Given the description of an element on the screen output the (x, y) to click on. 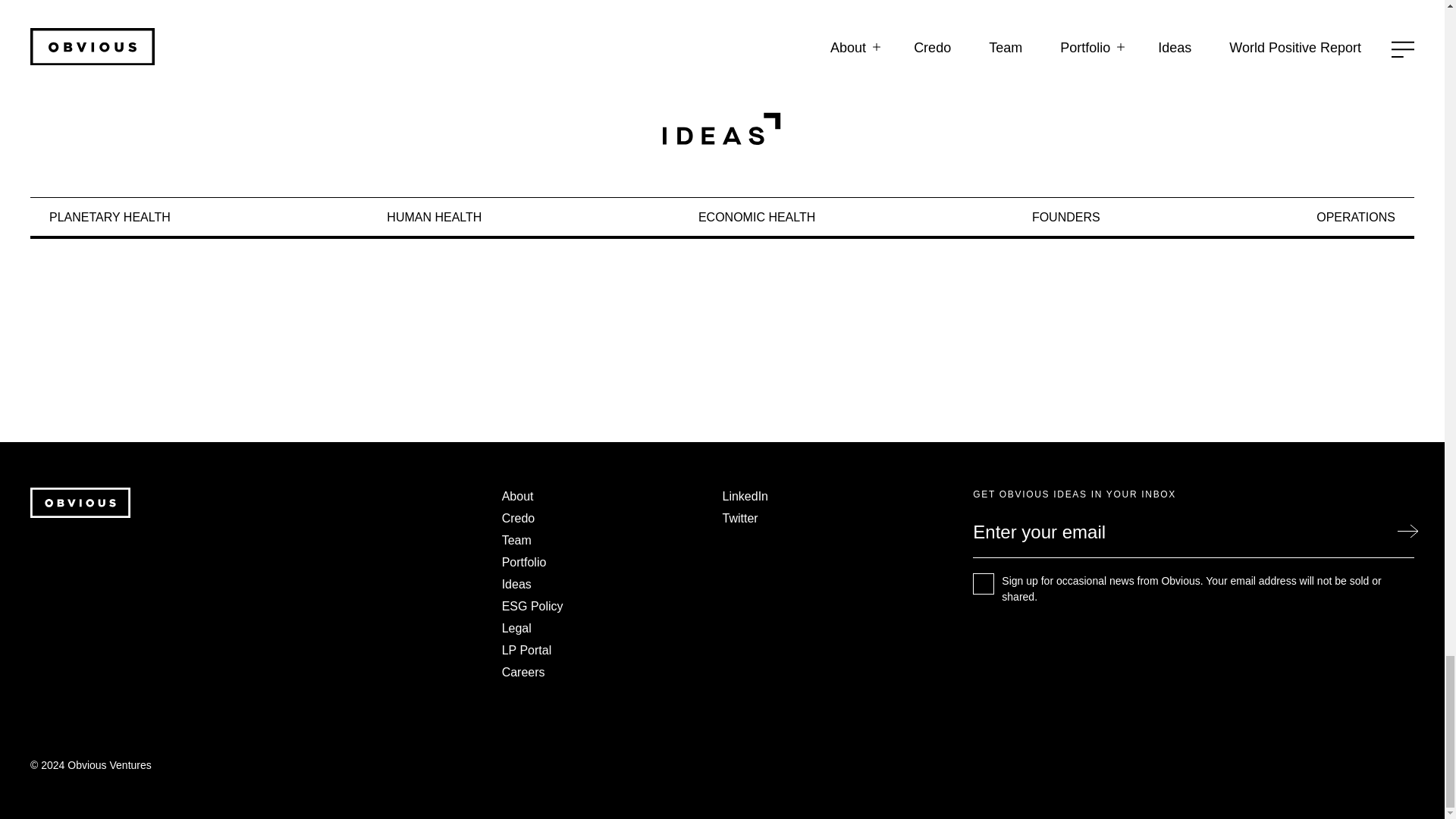
Submit (1407, 531)
